Given the description of an element on the screen output the (x, y) to click on. 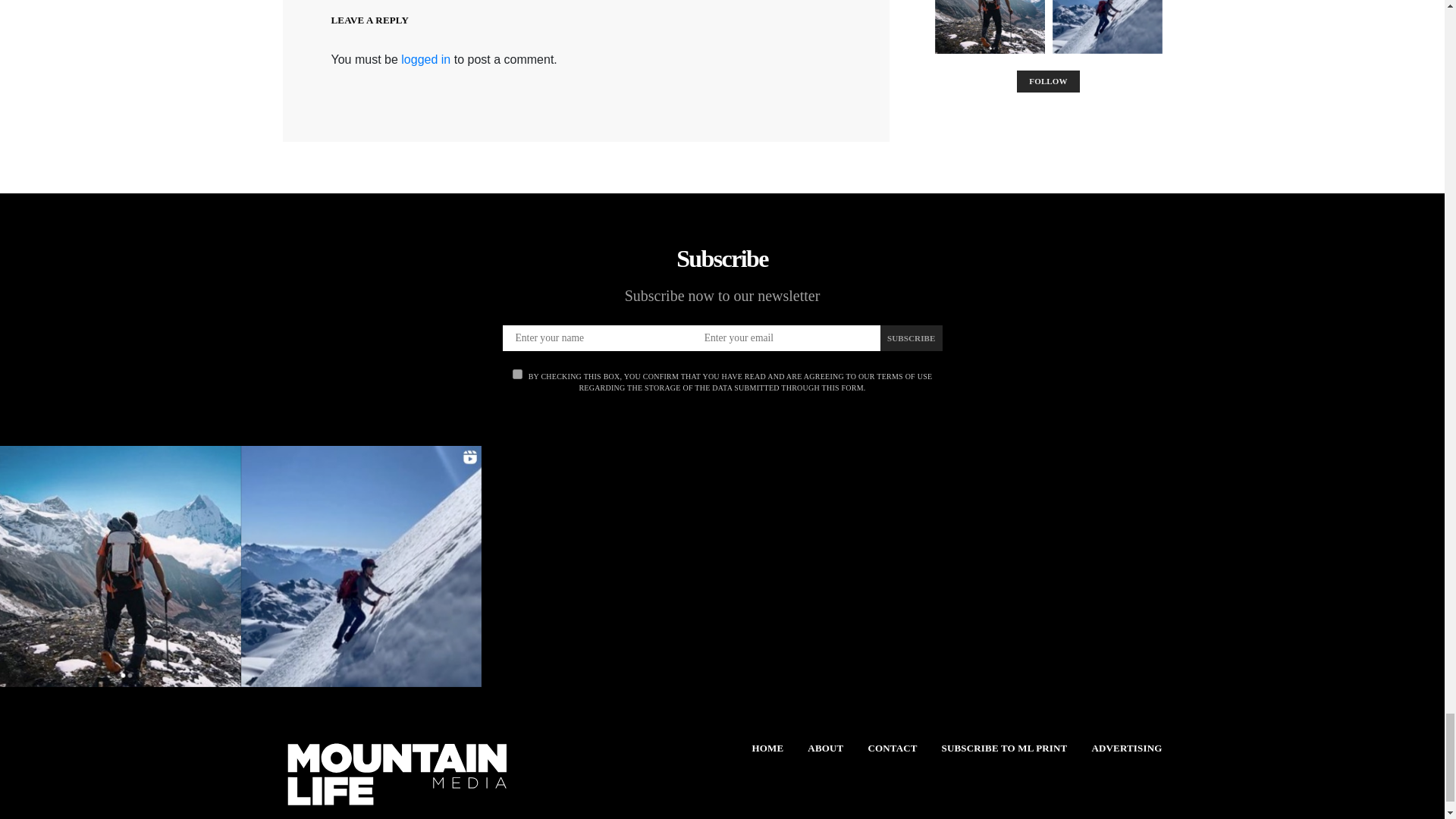
on (517, 374)
